Given the description of an element on the screen output the (x, y) to click on. 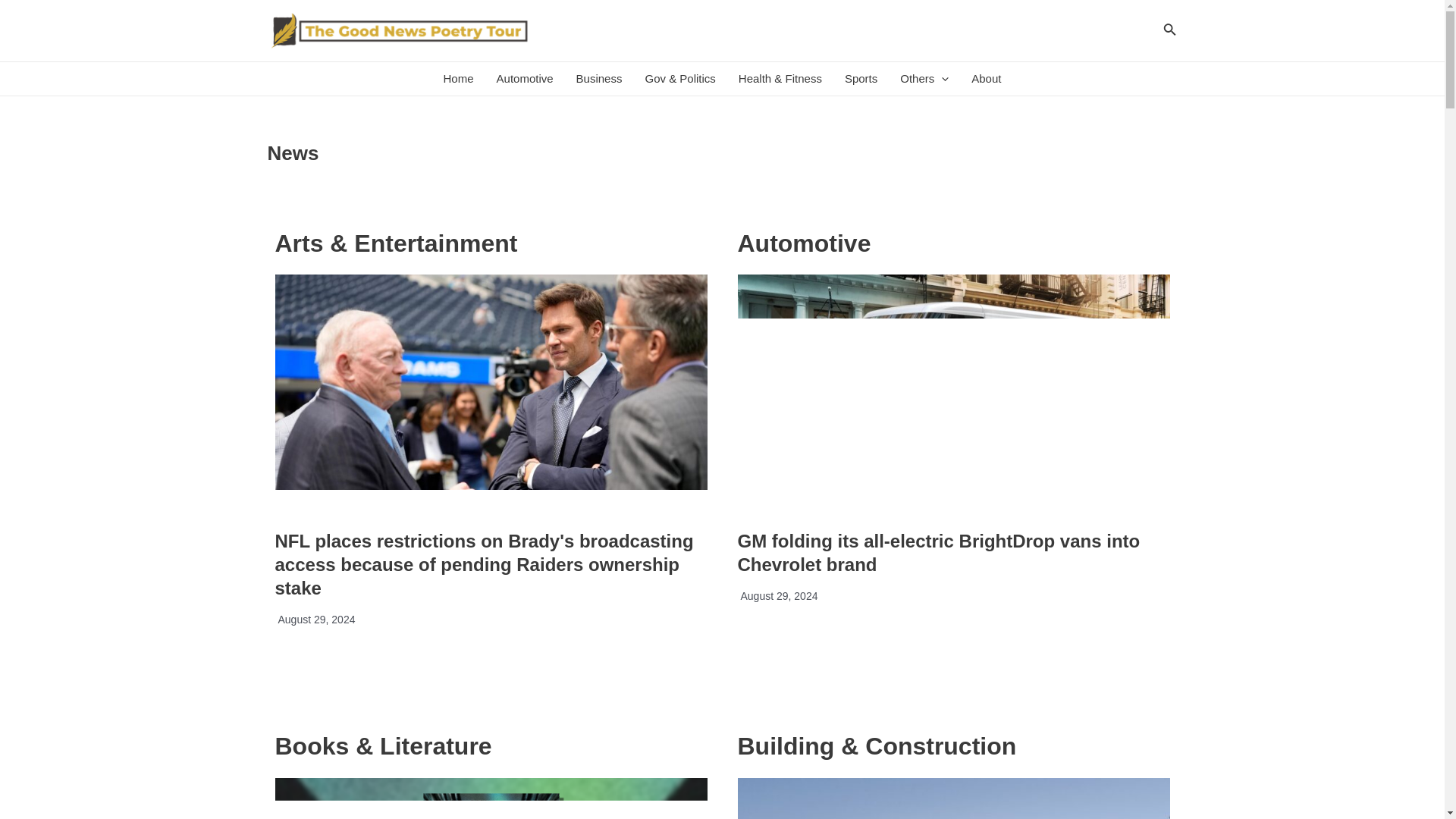
Home (458, 78)
Business (598, 78)
Sports (860, 78)
About (985, 78)
Others (923, 78)
Automotive (524, 78)
